Given the description of an element on the screen output the (x, y) to click on. 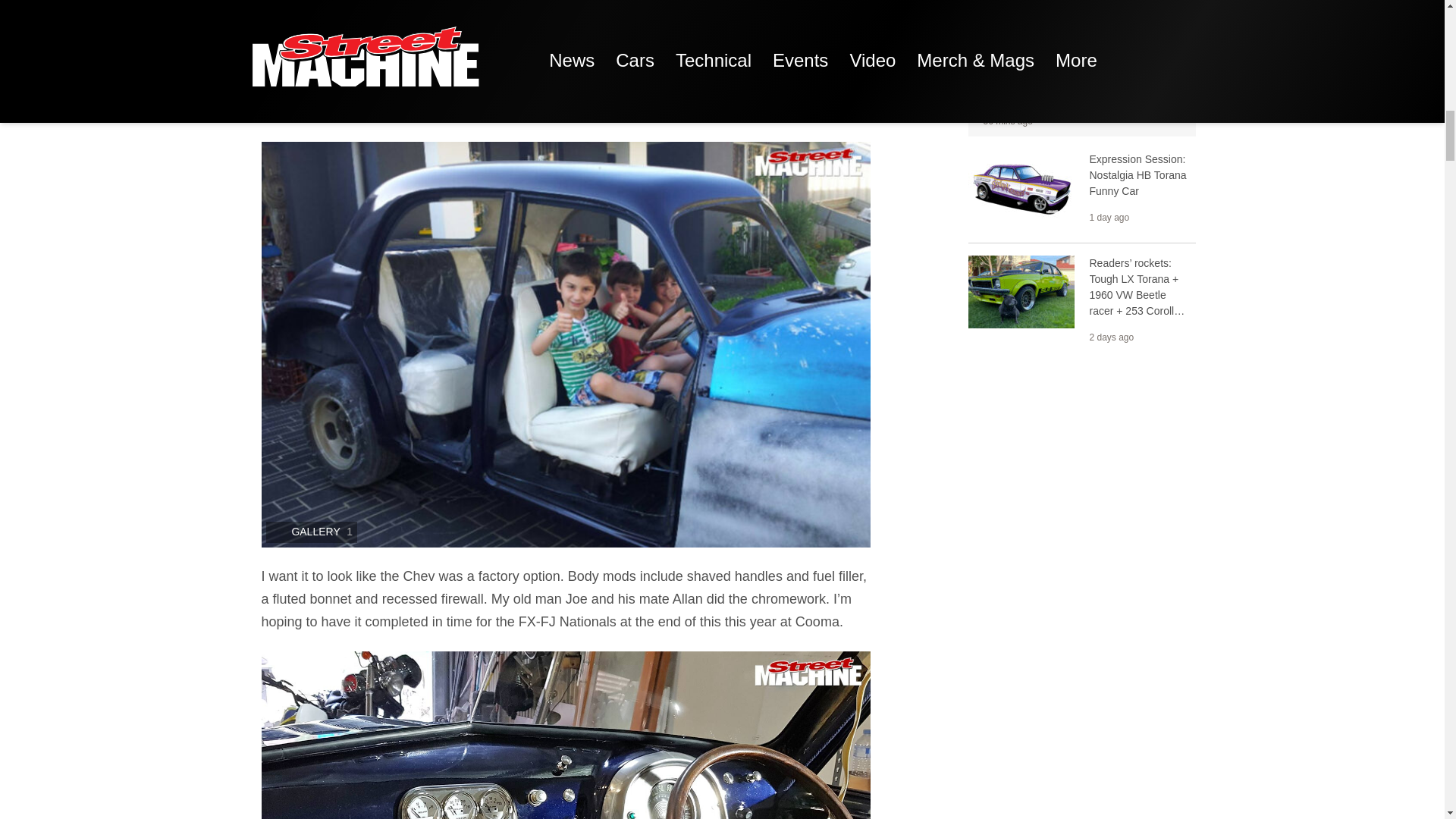
3rd party ad content (1081, 470)
